Given the description of an element on the screen output the (x, y) to click on. 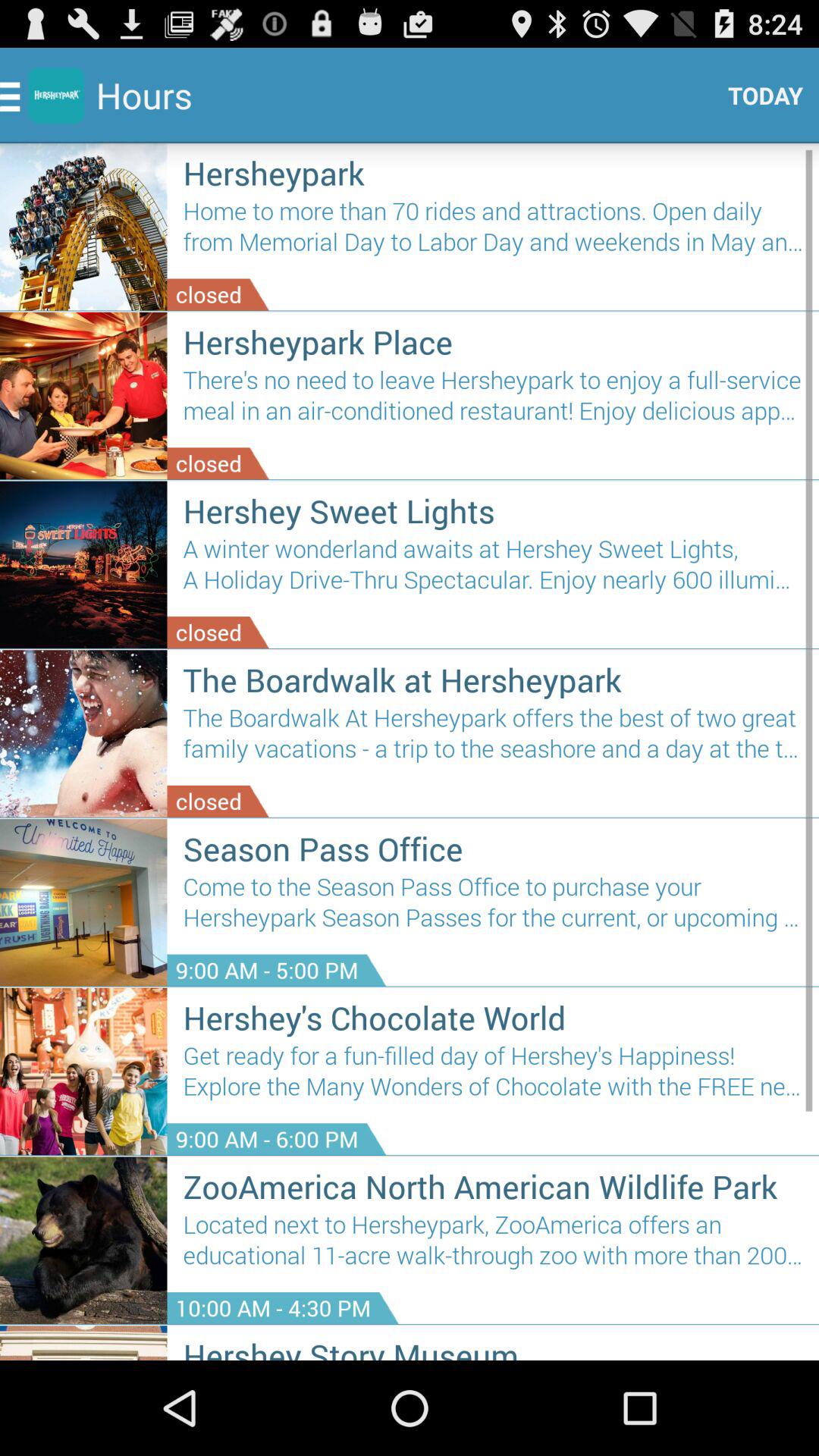
jump until hershey story museum item (493, 1346)
